Given the description of an element on the screen output the (x, y) to click on. 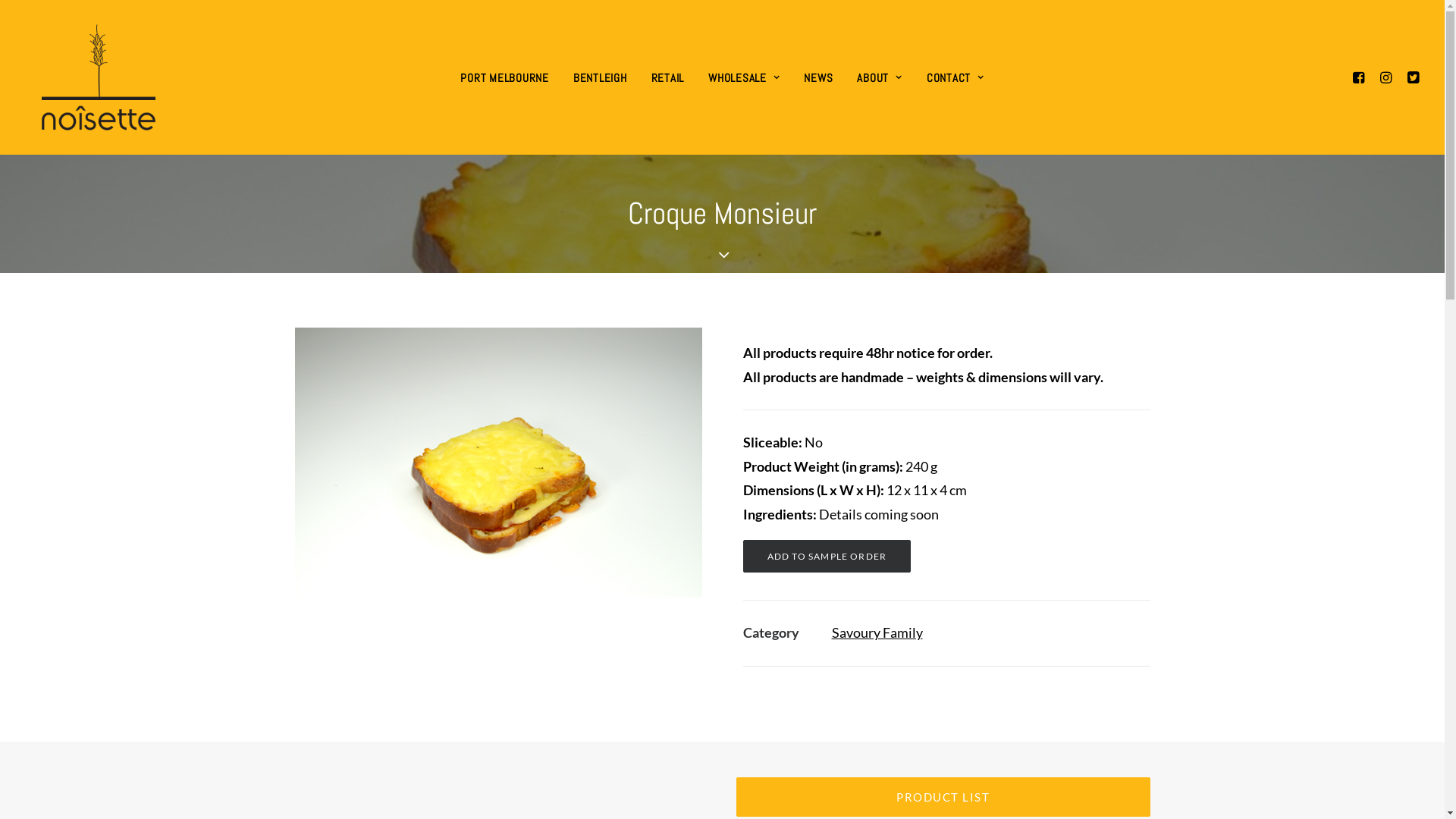
CONTACT Element type: text (955, 77)
Savoury Family Element type: text (876, 632)
NEWS Element type: text (818, 77)
PRODUCT LIST Element type: text (942, 796)
WHOLESALE Element type: text (743, 77)
PORT MELBOURNE Element type: text (504, 77)
RETAIL Element type: text (667, 77)
ABOUT Element type: text (879, 77)
ADD TO SAMPLE ORDER Element type: text (827, 555)
BENTLEIGH Element type: text (599, 77)
